Given the description of an element on the screen output the (x, y) to click on. 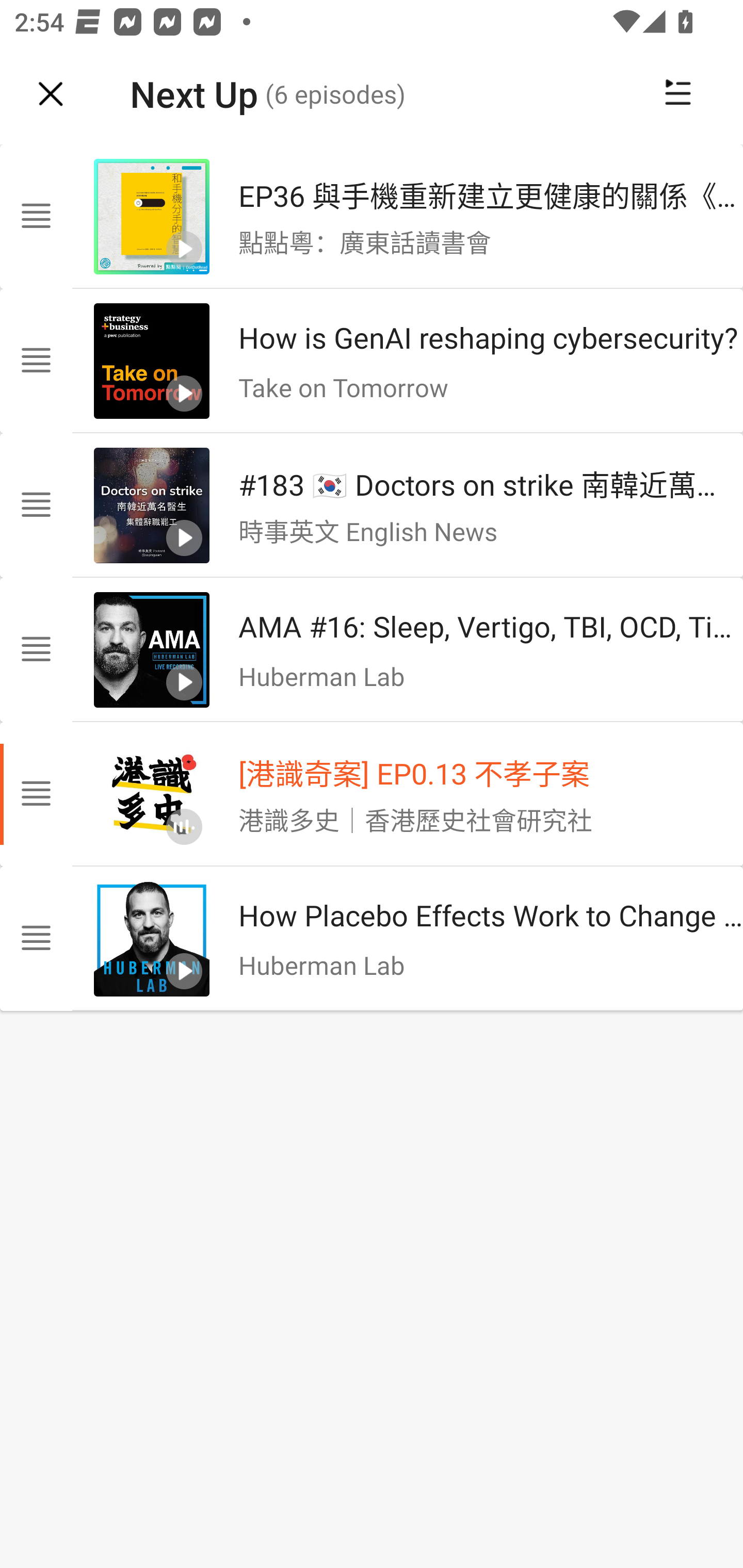
Navigate up (50, 93)
